Given the description of an element on the screen output the (x, y) to click on. 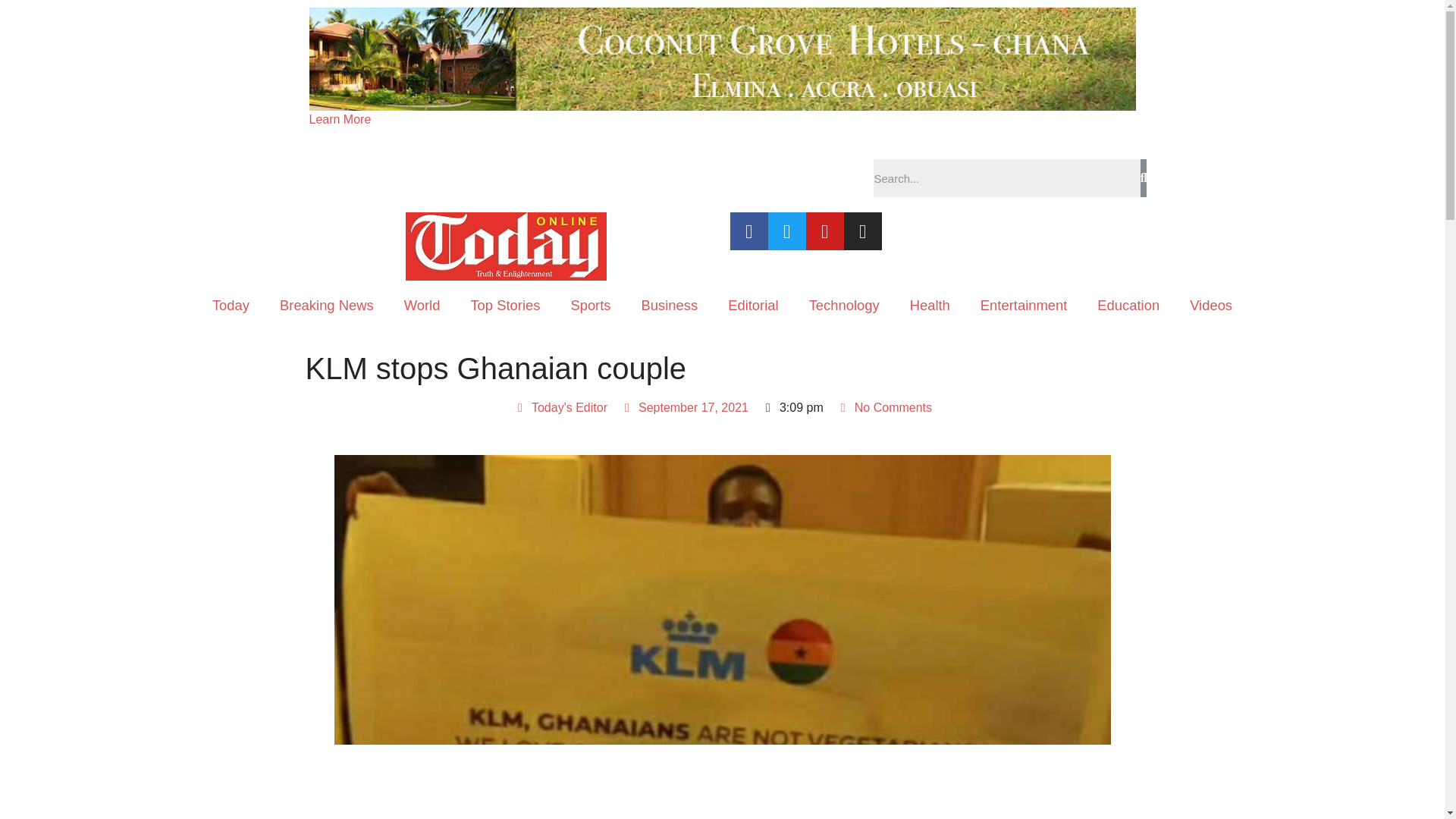
Breaking News (326, 305)
Sports (590, 305)
Editorial (753, 305)
Learn More (339, 119)
Top Stories (504, 305)
Technology (844, 305)
World (421, 305)
Education (1127, 305)
Videos (1210, 305)
Entertainment (1024, 305)
Search (1006, 177)
Health (930, 305)
Today (230, 305)
Business (669, 305)
September 17, 2021 (684, 407)
